Given the description of an element on the screen output the (x, y) to click on. 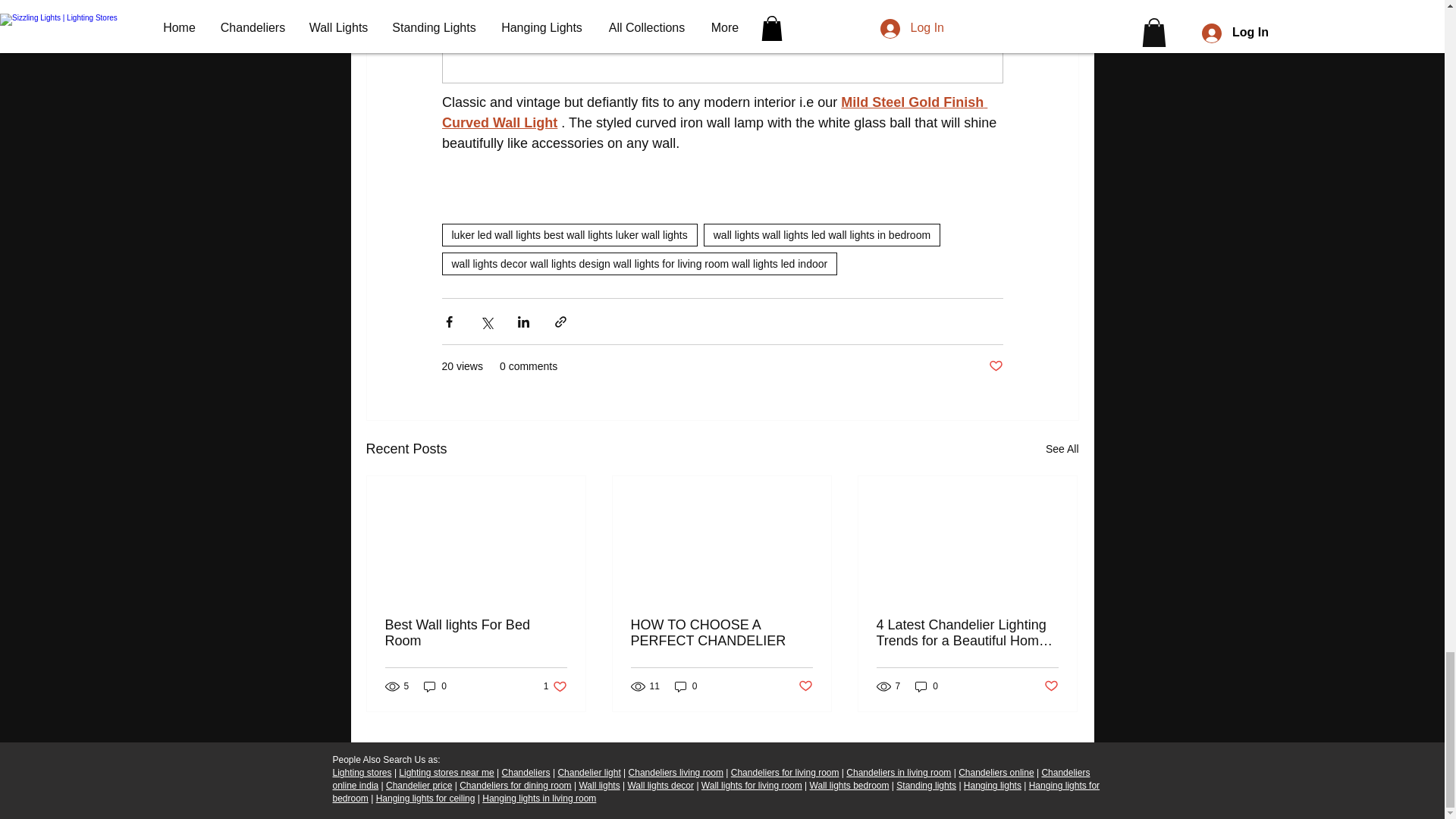
Best Wall lights For Bed Room (476, 633)
Mild Steel Gold Finish Curved Wall Light (714, 112)
luker led wall lights best wall lights luker wall lights (569, 234)
wall lights wall lights led wall lights in bedroom (821, 234)
Post not marked as liked (995, 366)
0 (435, 686)
See All (1061, 449)
